Given the description of an element on the screen output the (x, y) to click on. 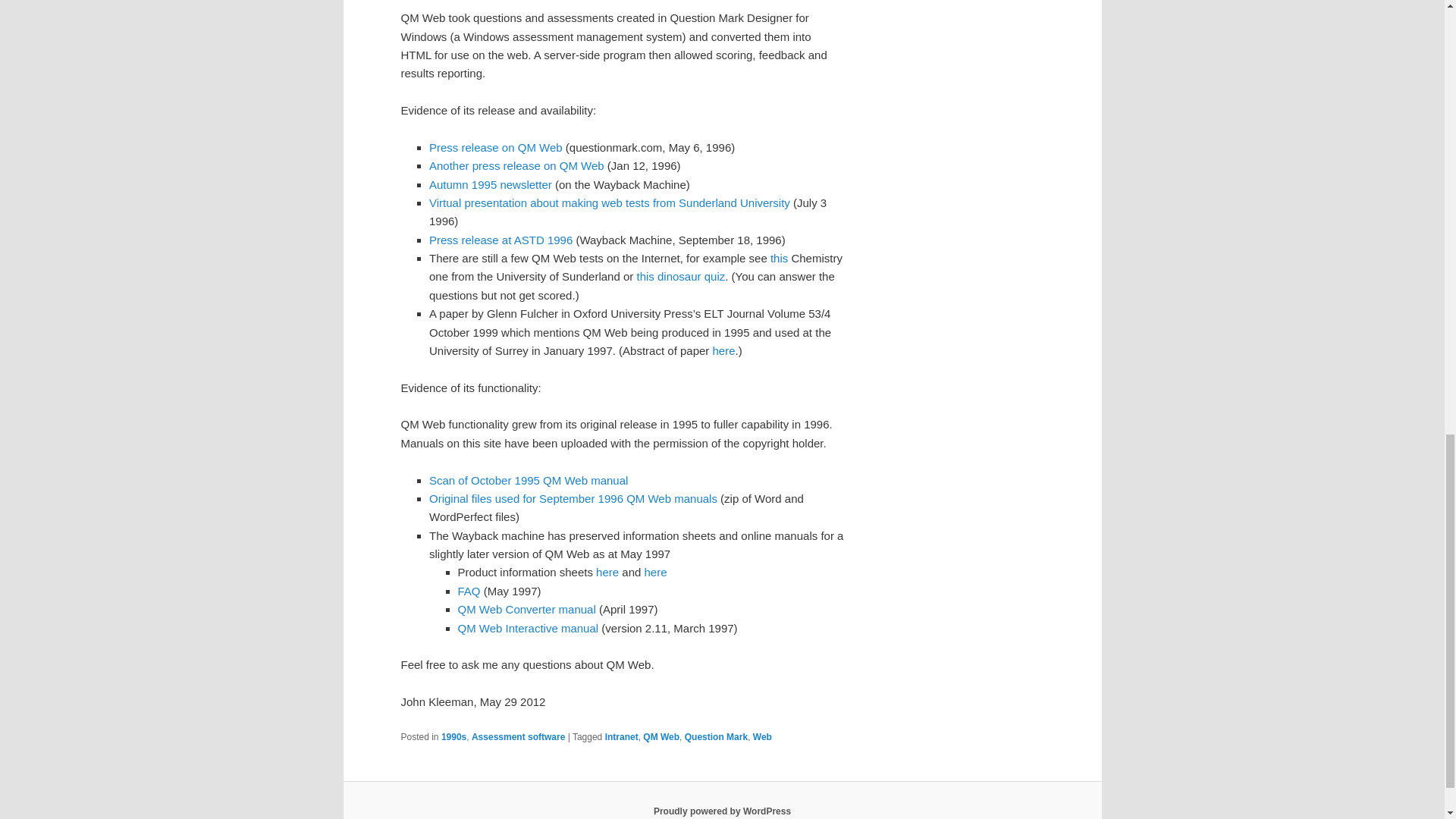
Scan of October 1995 QM Web manual (528, 480)
FAQ (469, 590)
Semantic Personal Publishing Platform (721, 810)
QM Web (661, 737)
1990s (453, 737)
Autumn 1995 newsletter (490, 184)
here (724, 350)
Web (761, 737)
Another press release on QM Web (516, 164)
this dinosaur quiz (680, 276)
QM Web Interactive manual (528, 627)
here (606, 571)
Original files used for September 1996 QM Web manuals (573, 498)
Press release at ASTD 1996 (500, 239)
